Given the description of an element on the screen output the (x, y) to click on. 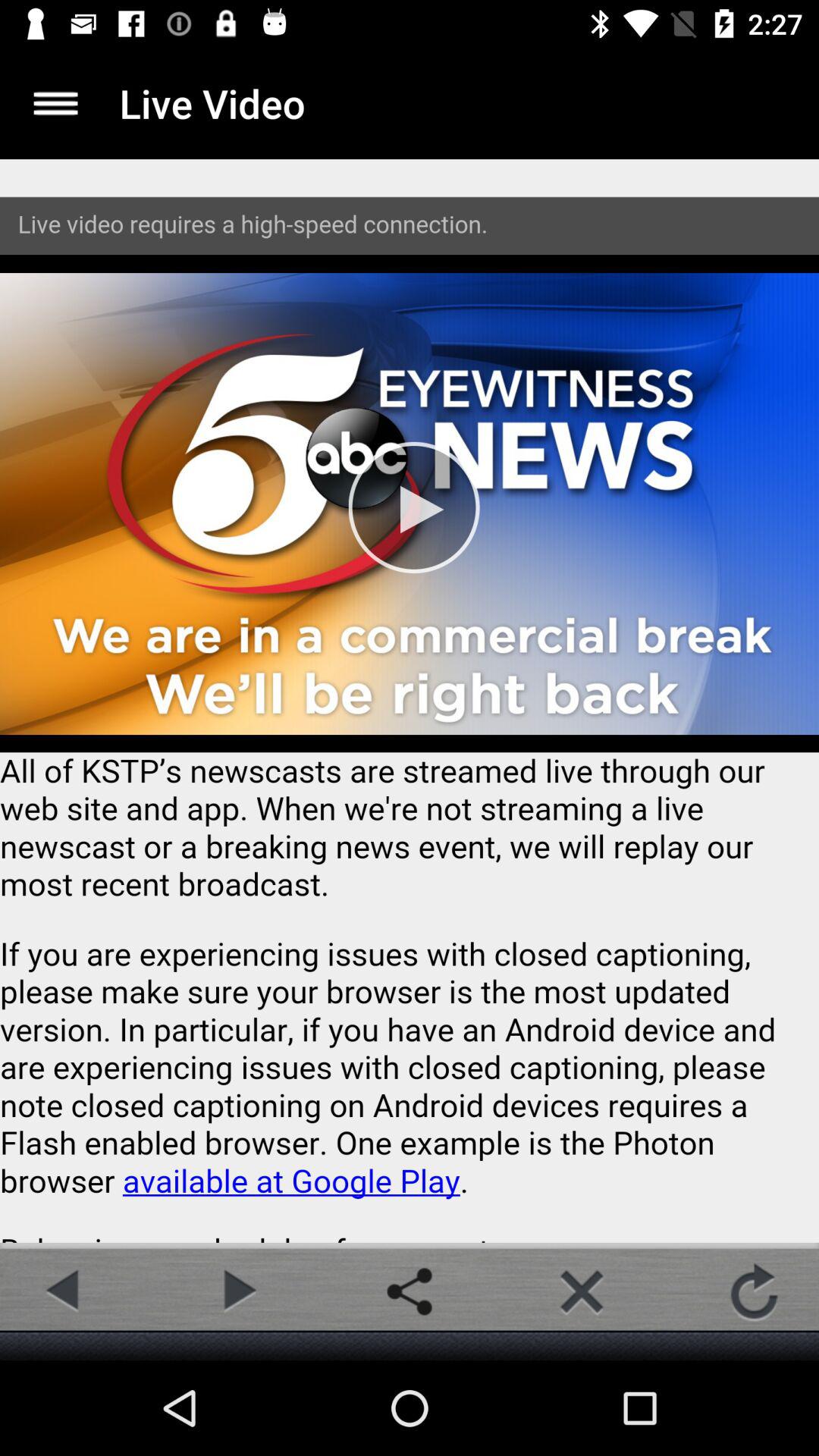
more (55, 103)
